Given the description of an element on the screen output the (x, y) to click on. 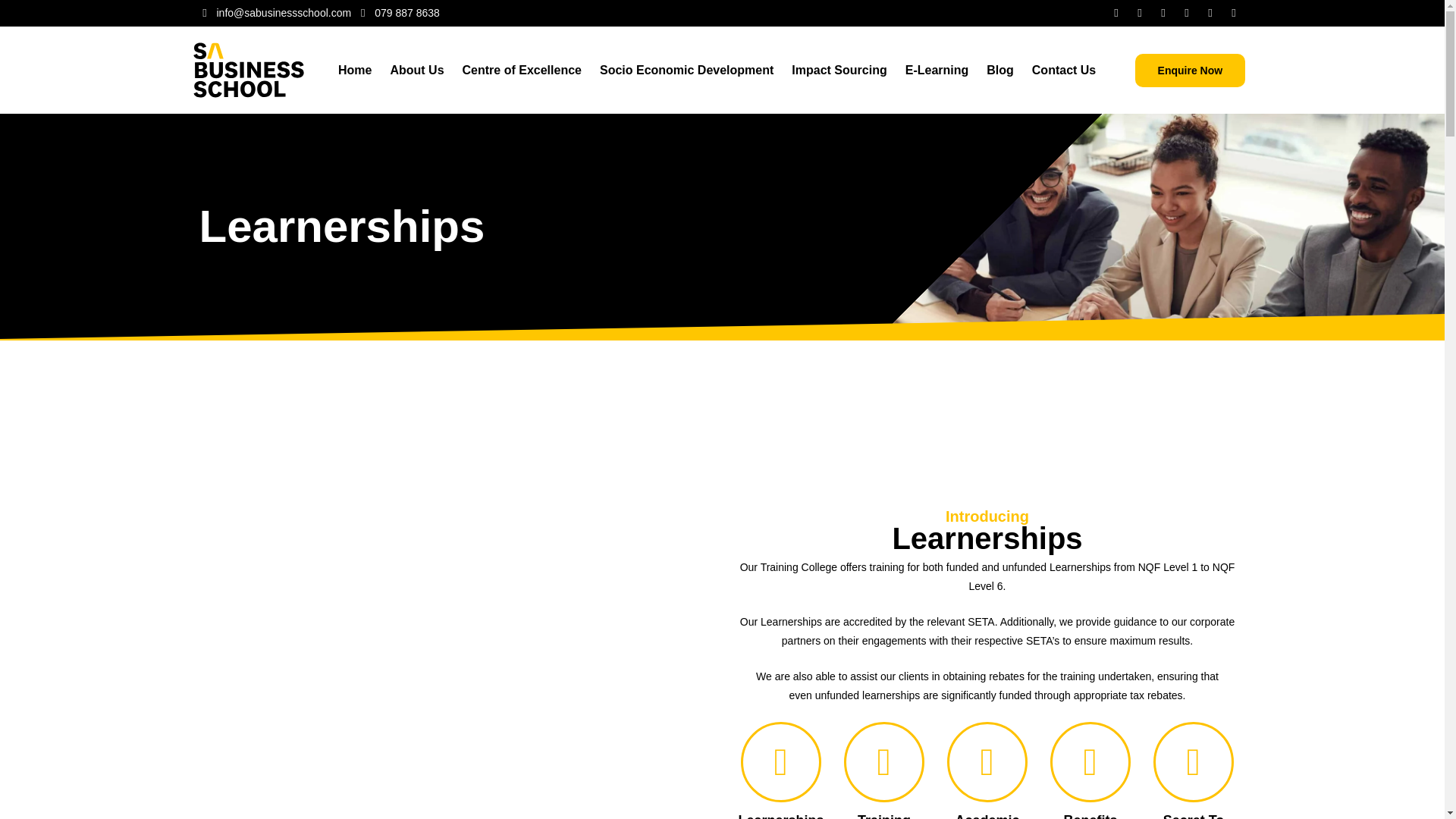
Blog (999, 69)
About Us (416, 69)
E-Learning (937, 69)
Impact Sourcing (839, 69)
Contact Us (1064, 69)
079 887 8638 (397, 13)
Centre of Excellence (521, 69)
Home (354, 69)
Socio Economic Development (687, 69)
